Given the description of an element on the screen output the (x, y) to click on. 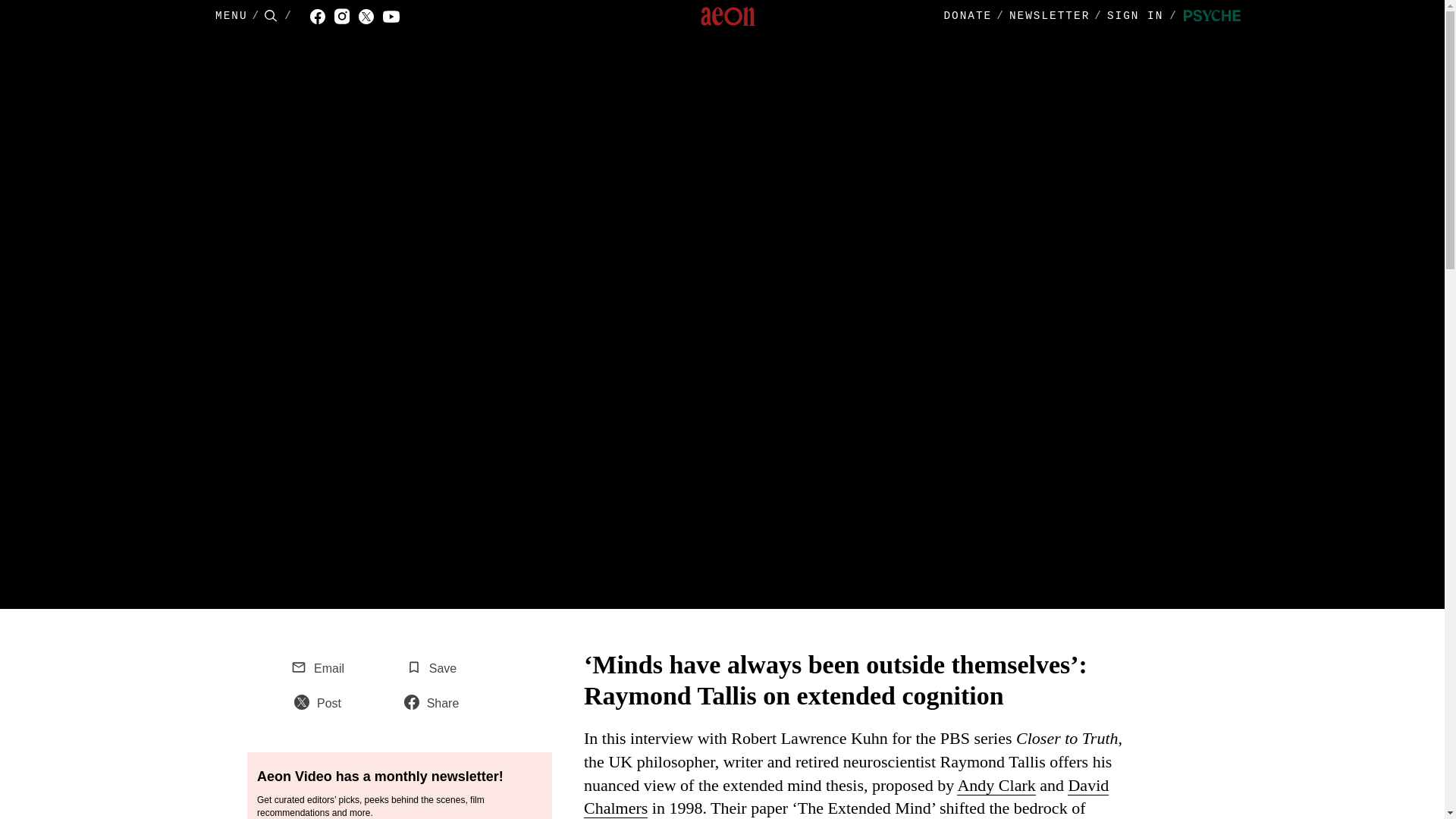
David Chalmers (845, 797)
Andy Clark (995, 785)
YouTube (395, 16)
Instagram (346, 16)
Sign in (1144, 16)
DONATE (967, 15)
Facebook (322, 16)
Psyche (1211, 17)
